Given the description of an element on the screen output the (x, y) to click on. 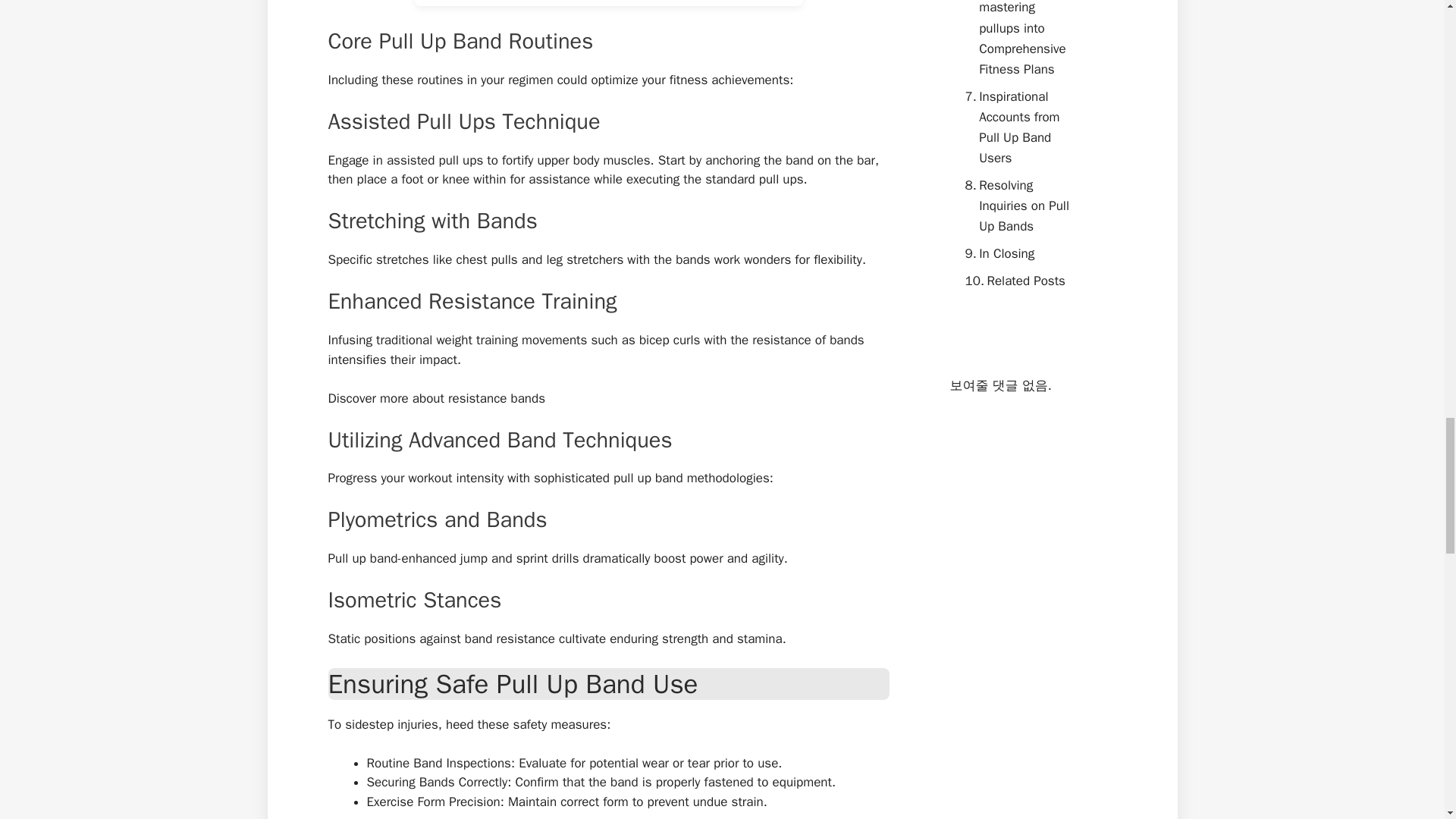
Discover more about resistance bands (435, 398)
